Given the description of an element on the screen output the (x, y) to click on. 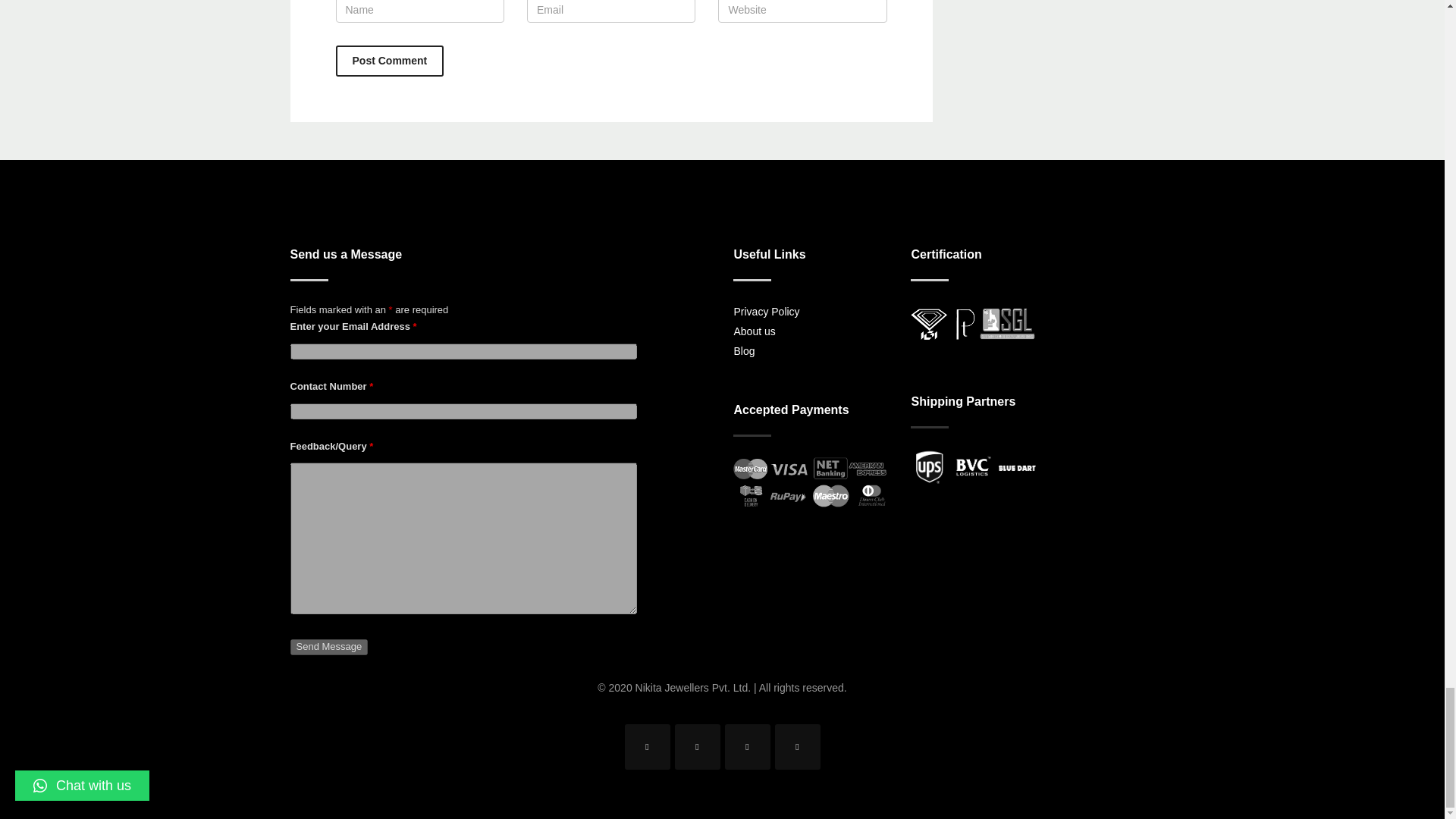
Send Message (810, 331)
Post Comment (328, 647)
